Given the description of an element on the screen output the (x, y) to click on. 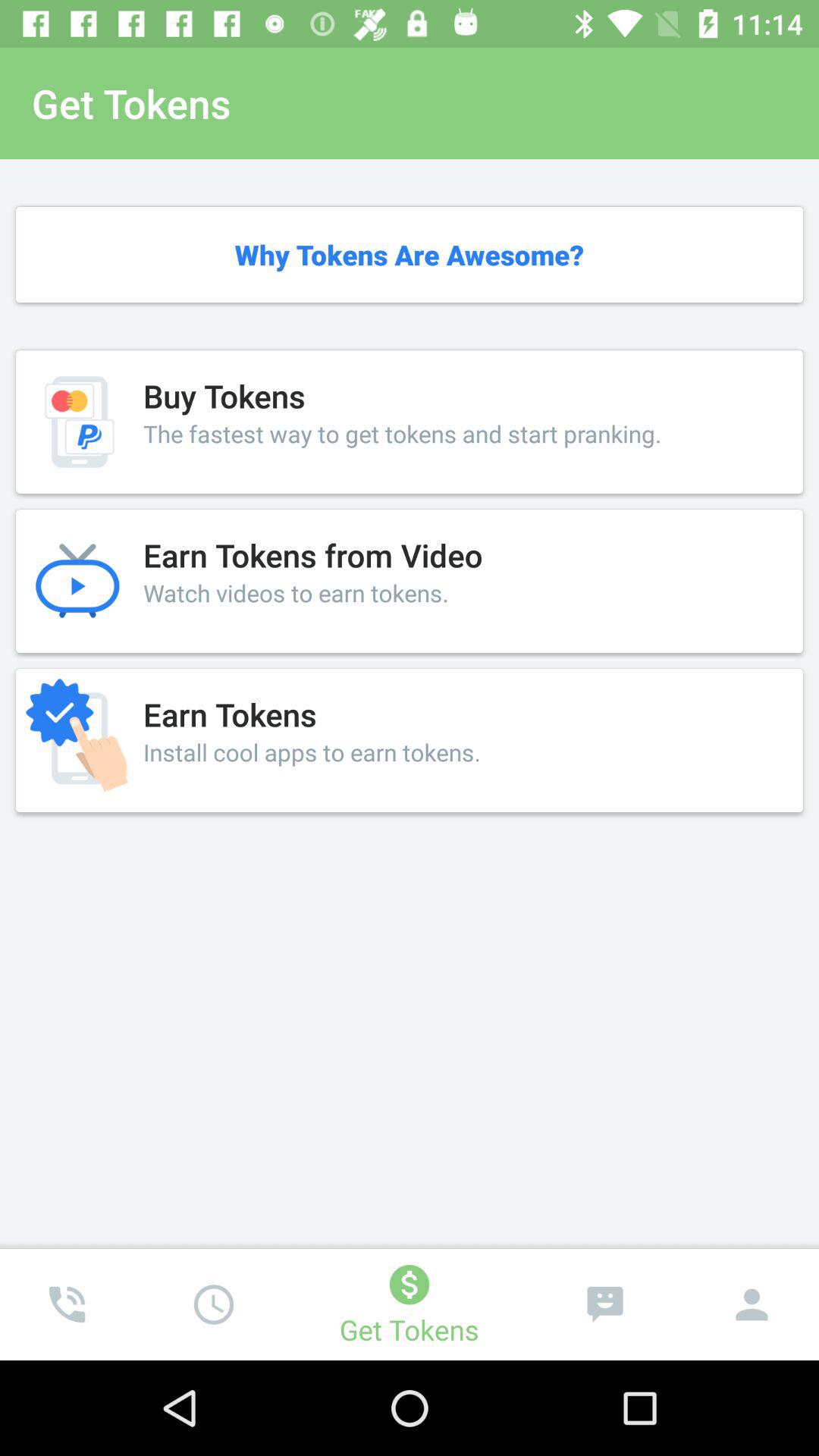
select the box which says earn tokens from videos (409, 580)
go to left of buy tokens (79, 421)
go to the second icon from the bottom left (213, 1304)
